Given the description of an element on the screen output the (x, y) to click on. 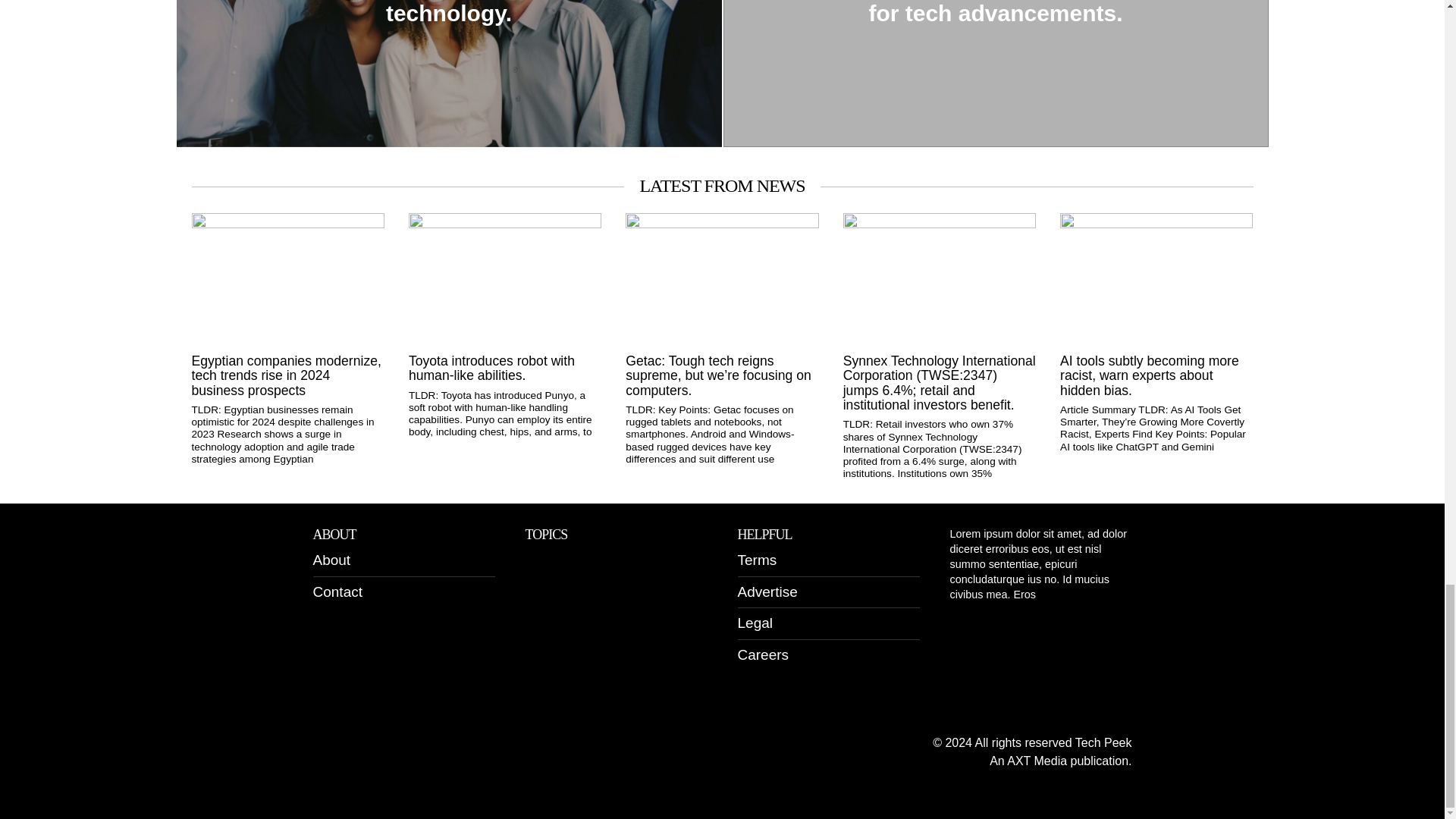
Terms (756, 560)
Toyota introduces robot with human-like abilities. (505, 368)
About (331, 560)
Contact (337, 591)
